Given the description of an element on the screen output the (x, y) to click on. 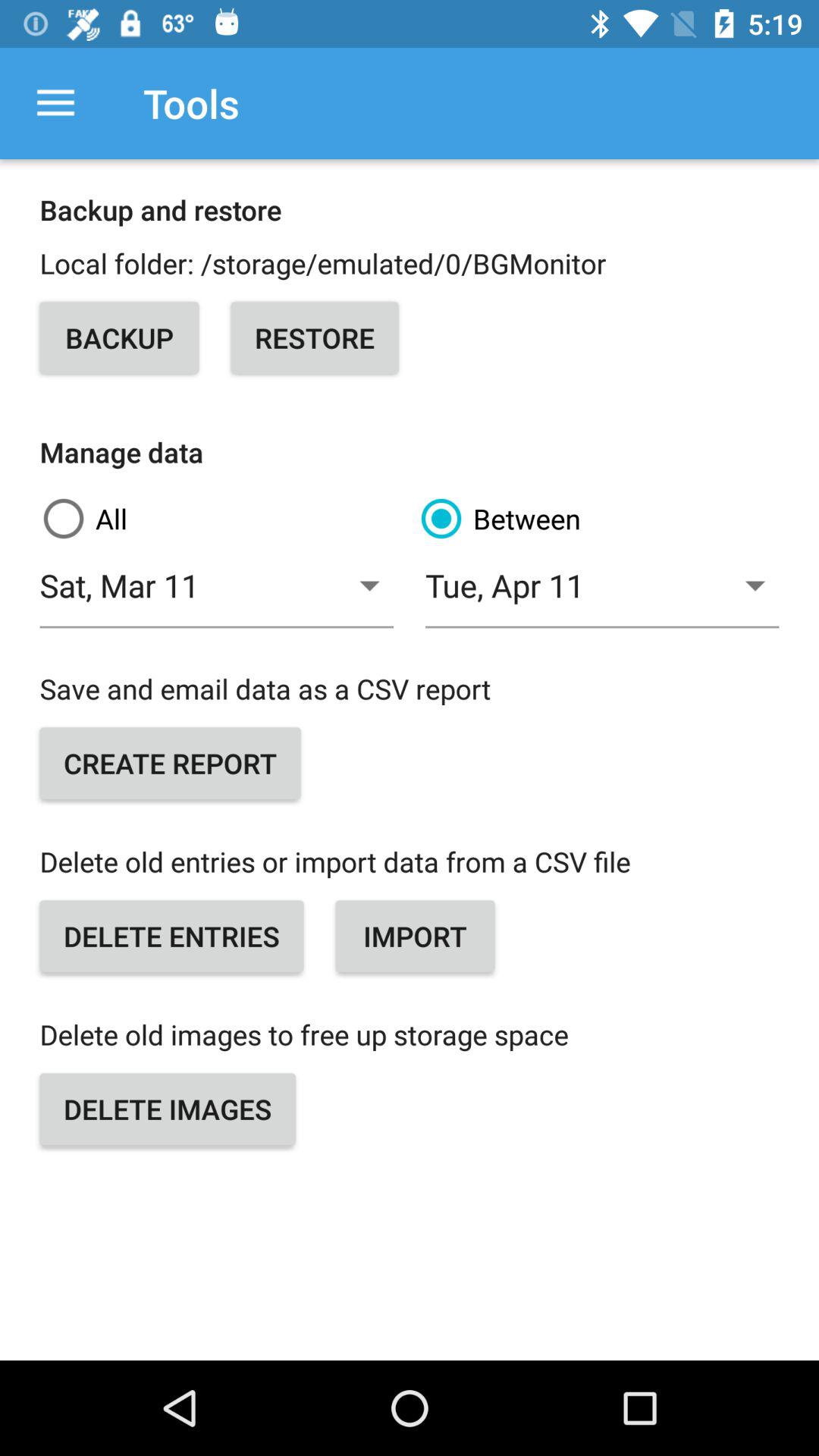
turn off item to the left of the between (216, 594)
